Given the description of an element on the screen output the (x, y) to click on. 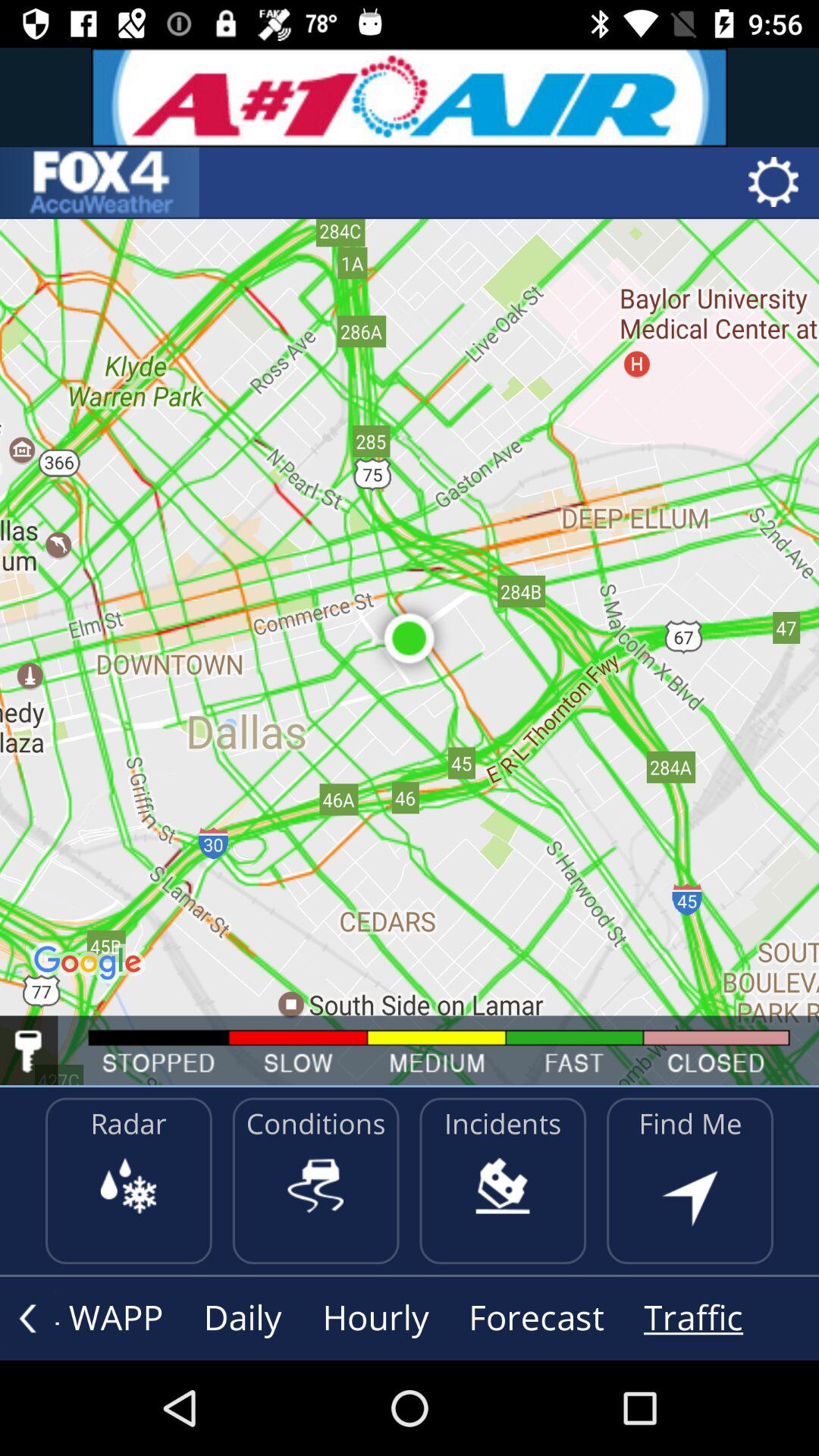
go back (27, 1318)
